Given the description of an element on the screen output the (x, y) to click on. 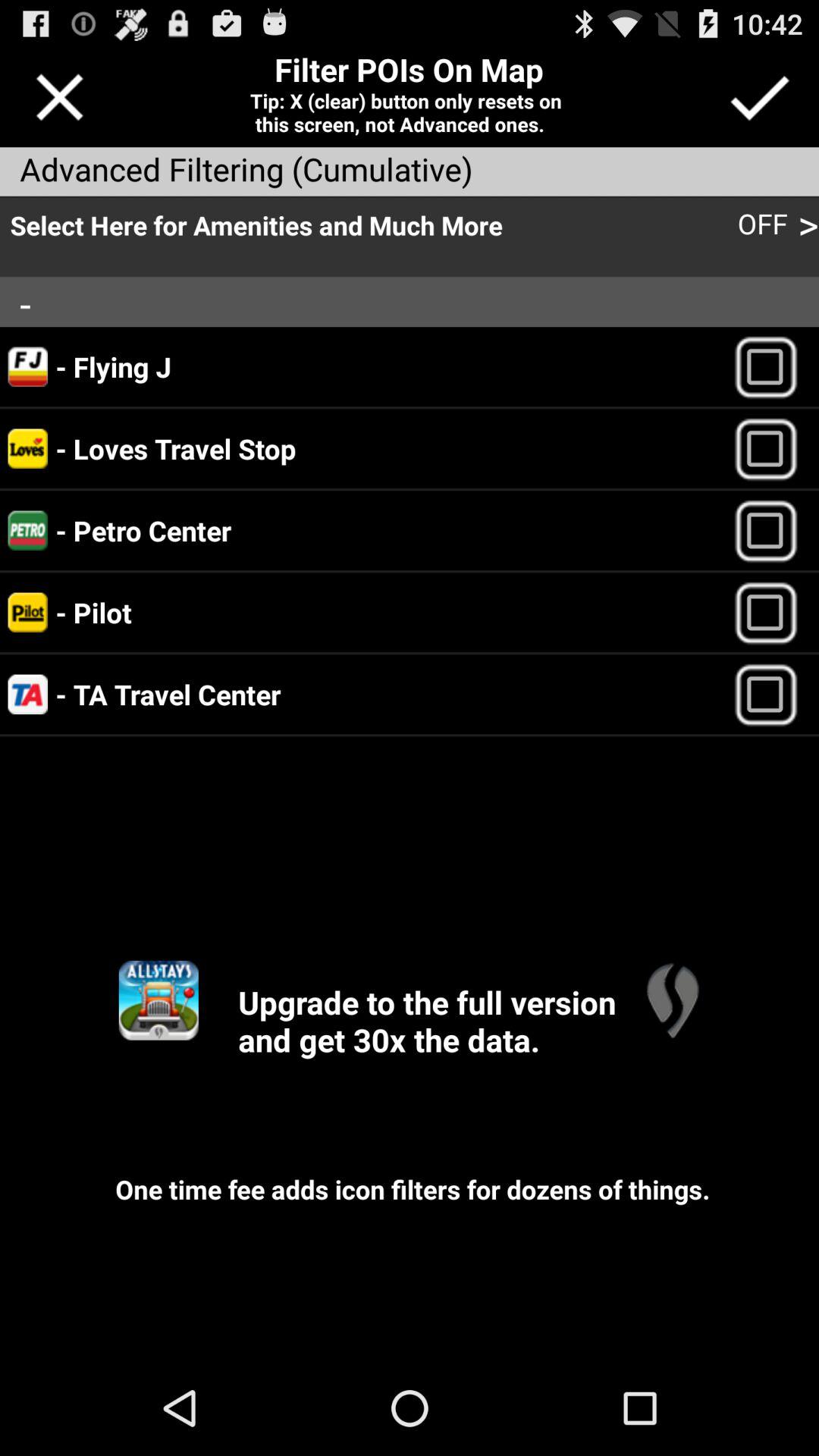
confirm selections (759, 97)
